Given the description of an element on the screen output the (x, y) to click on. 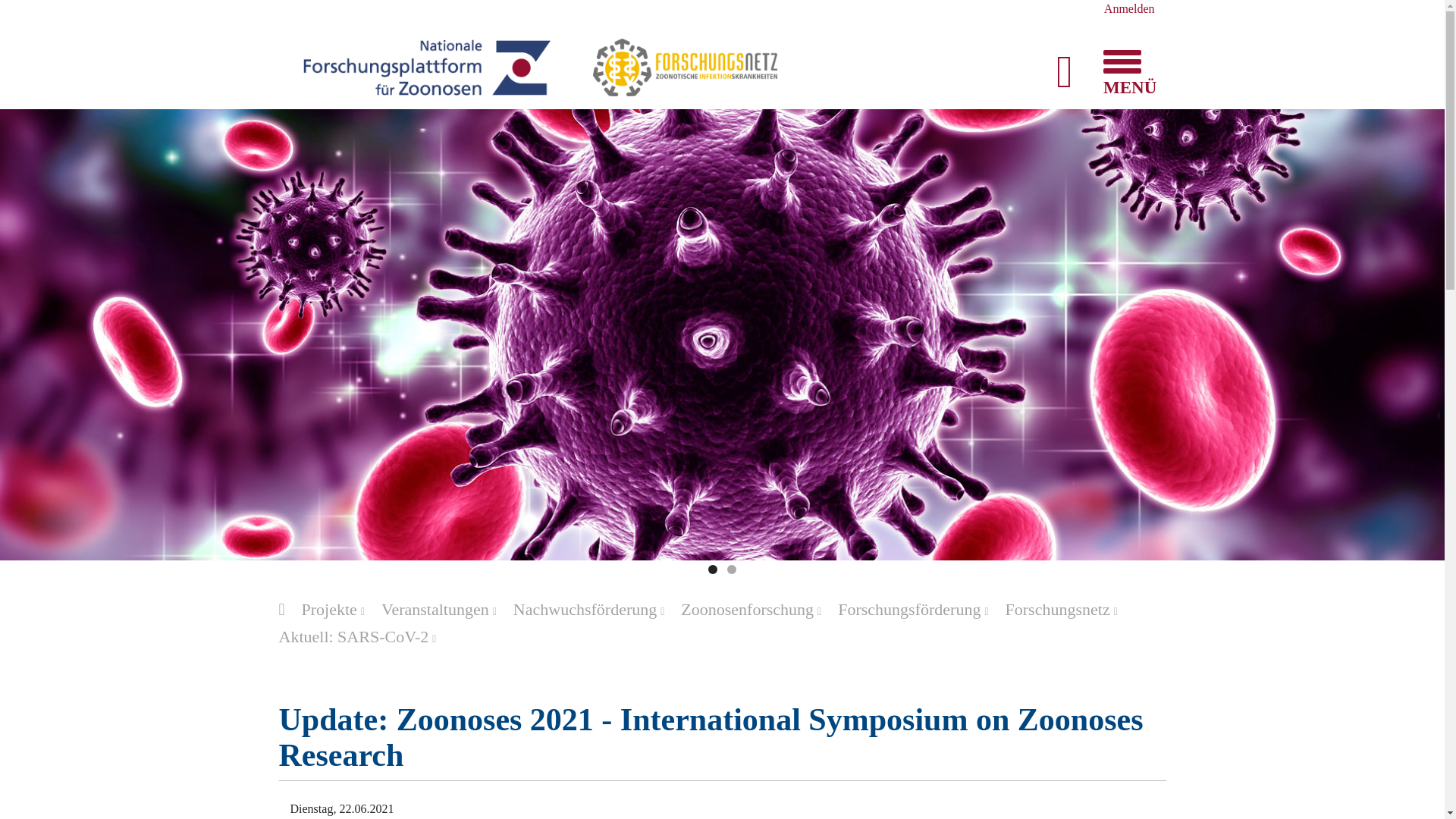
Menu (1120, 61)
Startseite (425, 65)
